Given the description of an element on the screen output the (x, y) to click on. 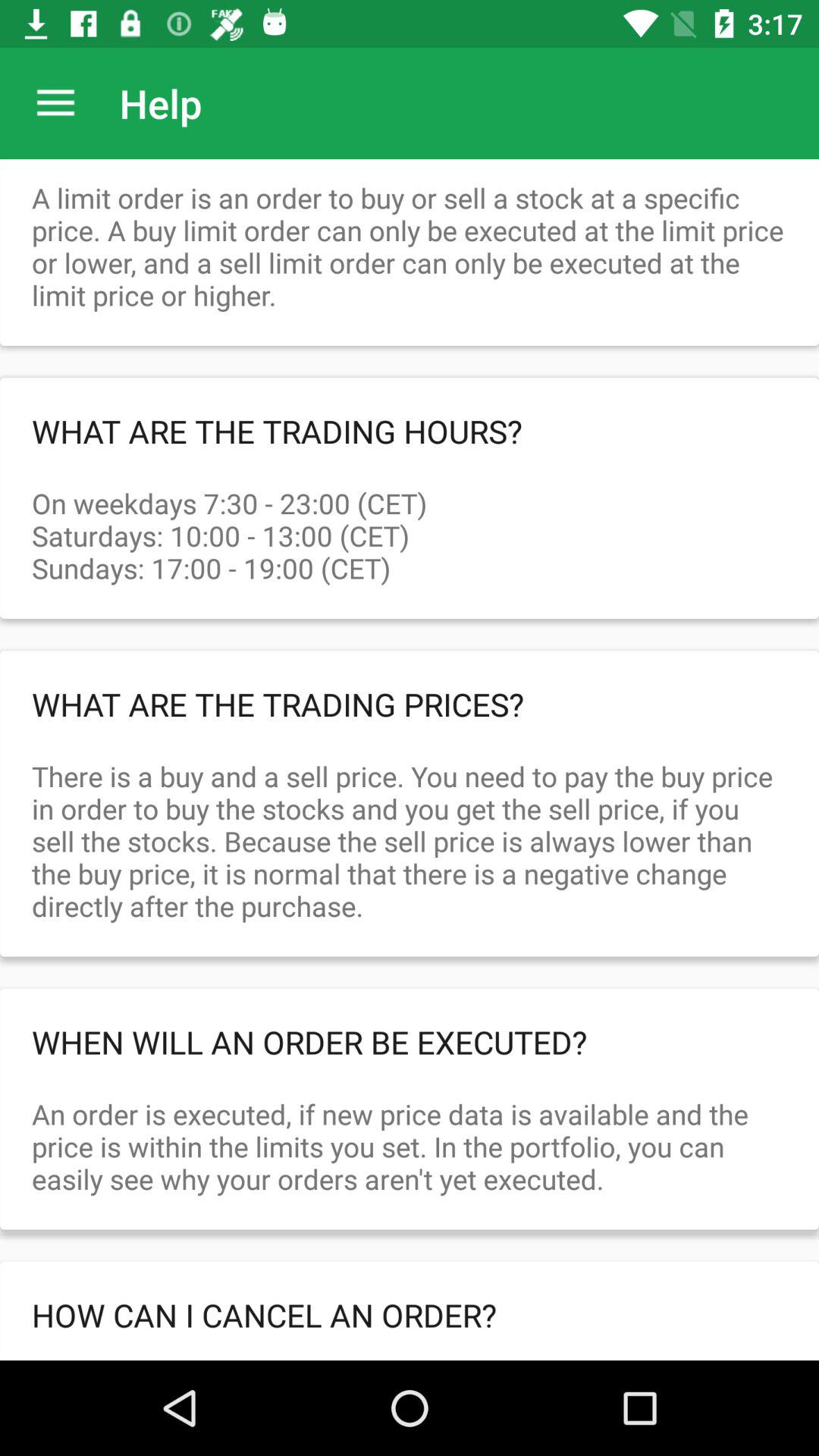
press icon above what are the item (409, 519)
